Given the description of an element on the screen output the (x, y) to click on. 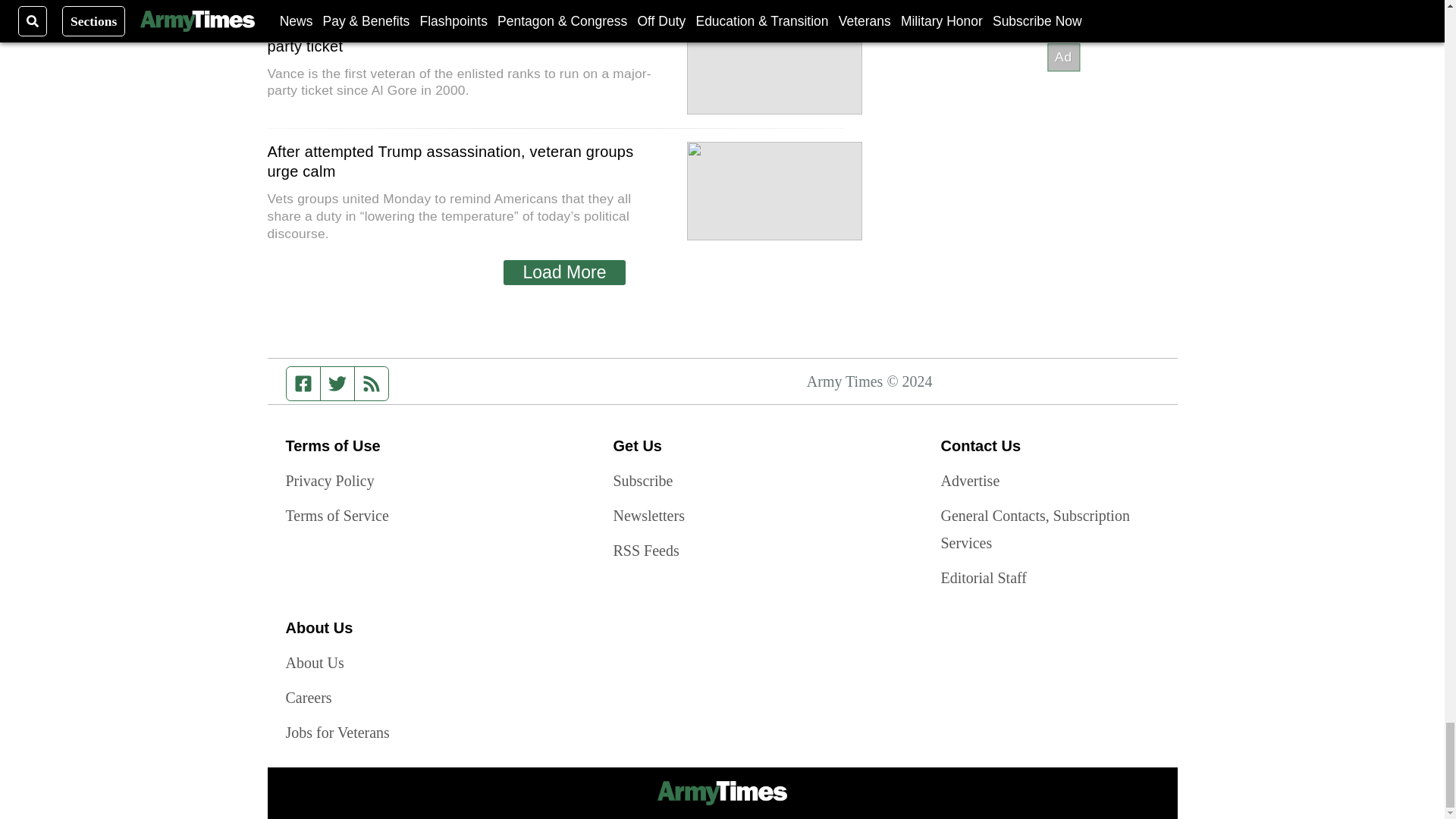
RSS feed (371, 383)
Twitter feed (336, 383)
Facebook page (303, 383)
